Given the description of an element on the screen output the (x, y) to click on. 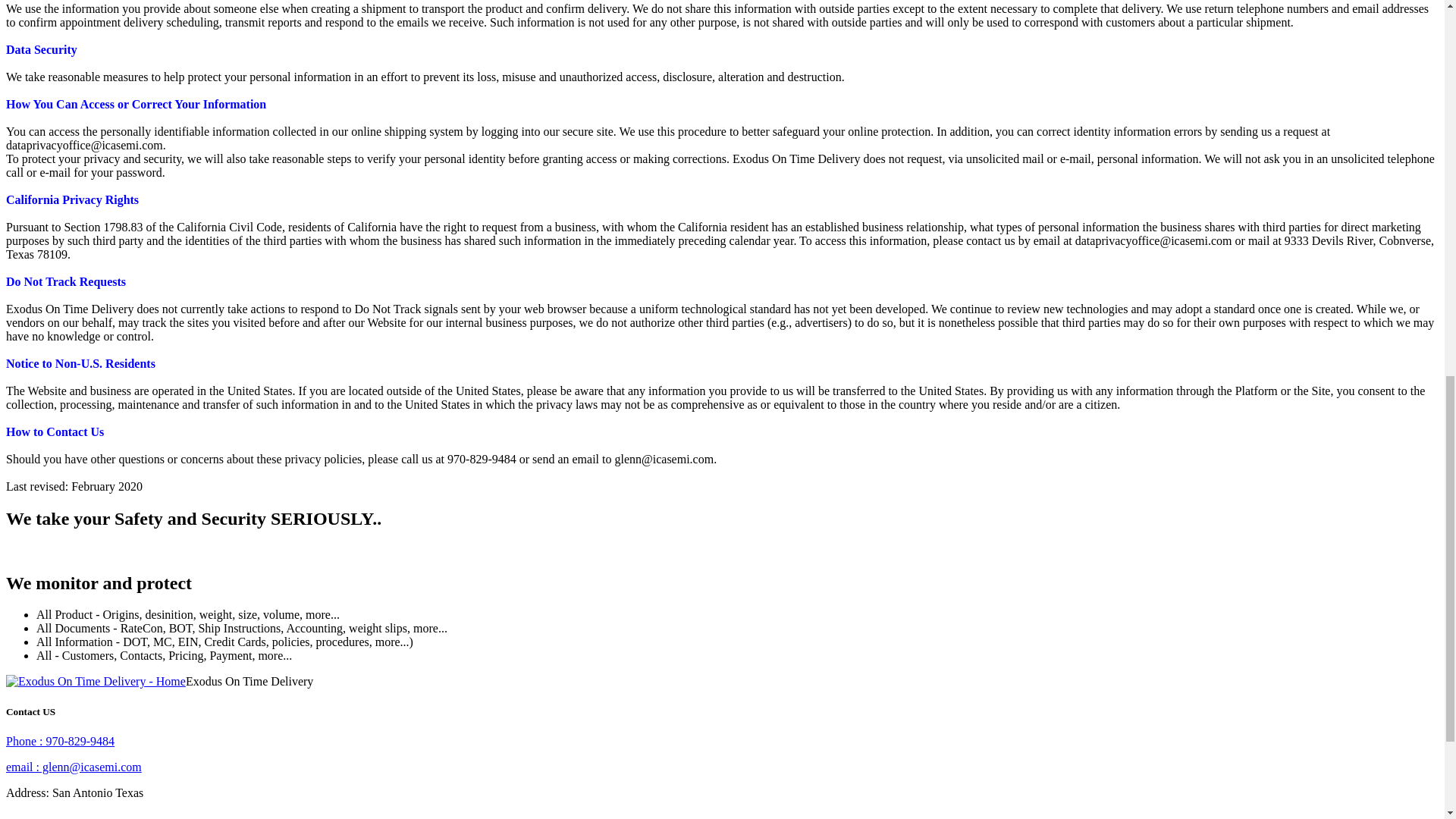
Phone : 970-829-9484 (60, 740)
